Given the description of an element on the screen output the (x, y) to click on. 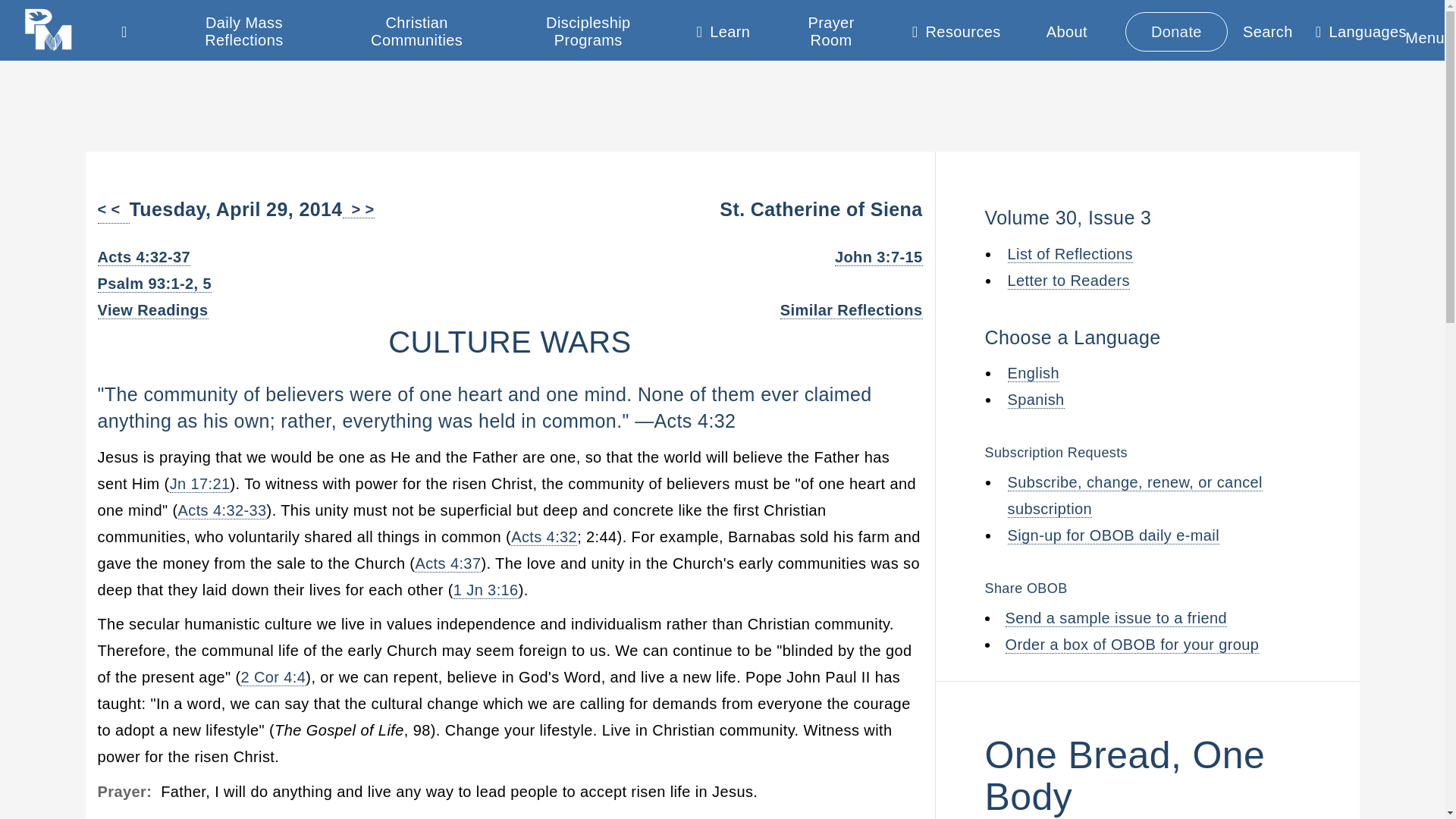
Languages (1361, 34)
Acts 4:32-37 (143, 257)
John 3:7-15 (878, 257)
Letter to Readers (1068, 280)
List of Reflections (1069, 253)
Learn (723, 34)
2 Cor 4:4 (272, 677)
Daily Mass Reflections (244, 31)
Acts 4:32-33 (221, 510)
Acts 4:37 (447, 563)
Christian Communities (416, 31)
Prayer Room (831, 31)
1 Jn 3:16 (485, 589)
Discipleship Programs (588, 31)
Similar Reflections (851, 310)
